Given the description of an element on the screen output the (x, y) to click on. 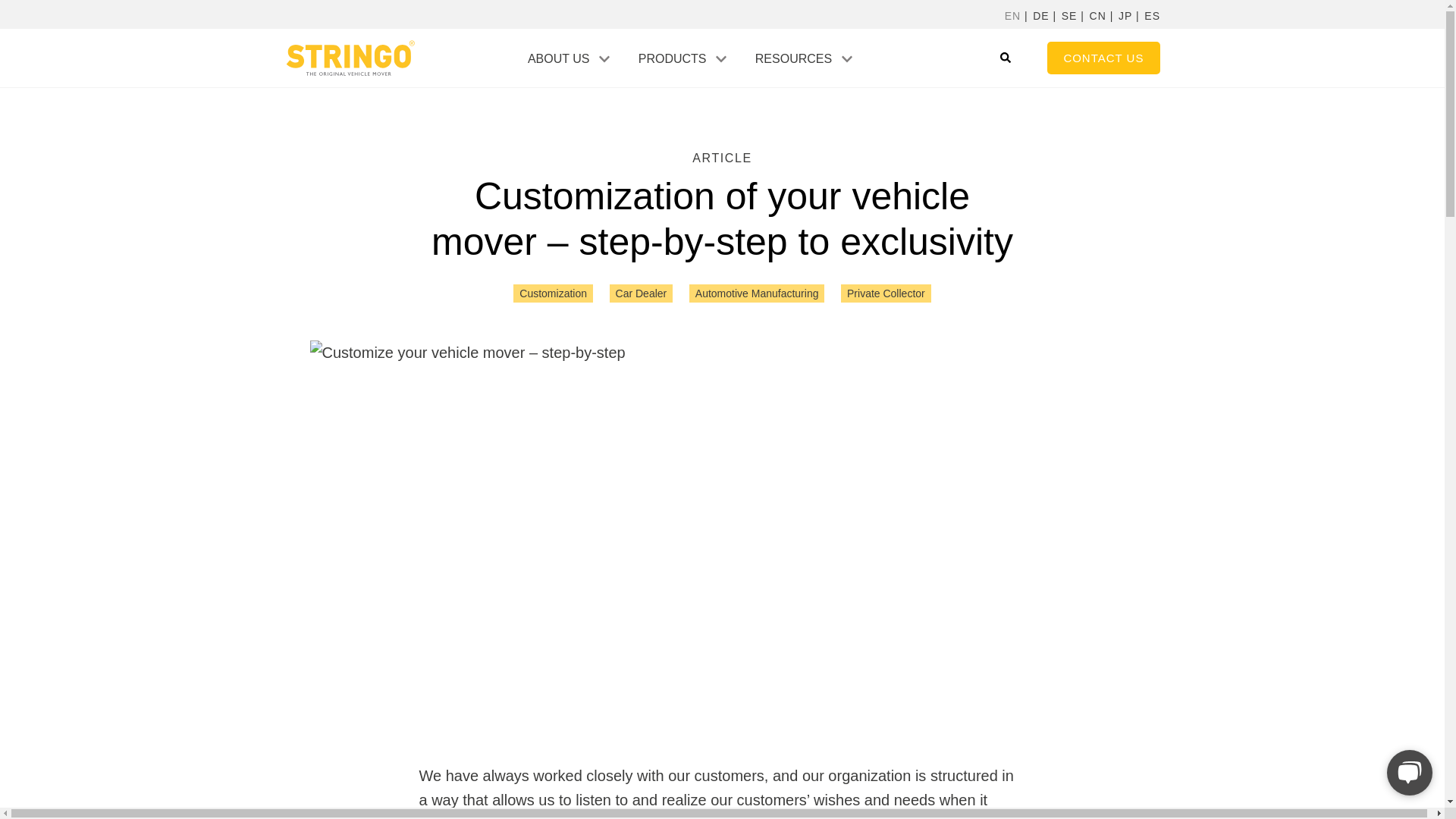
DE (1040, 16)
Automotive Manufacturing (756, 293)
EN (1012, 16)
ES (1152, 16)
CONTACT US (1103, 57)
PRODUCTS (672, 58)
CN (1097, 16)
Customization (552, 293)
SE (1069, 16)
ABOUT US (558, 58)
Car Dealer (641, 293)
RESOURCES (793, 58)
Chat Widget (1406, 770)
JP (1125, 16)
Private Collector (886, 293)
